Given the description of an element on the screen output the (x, y) to click on. 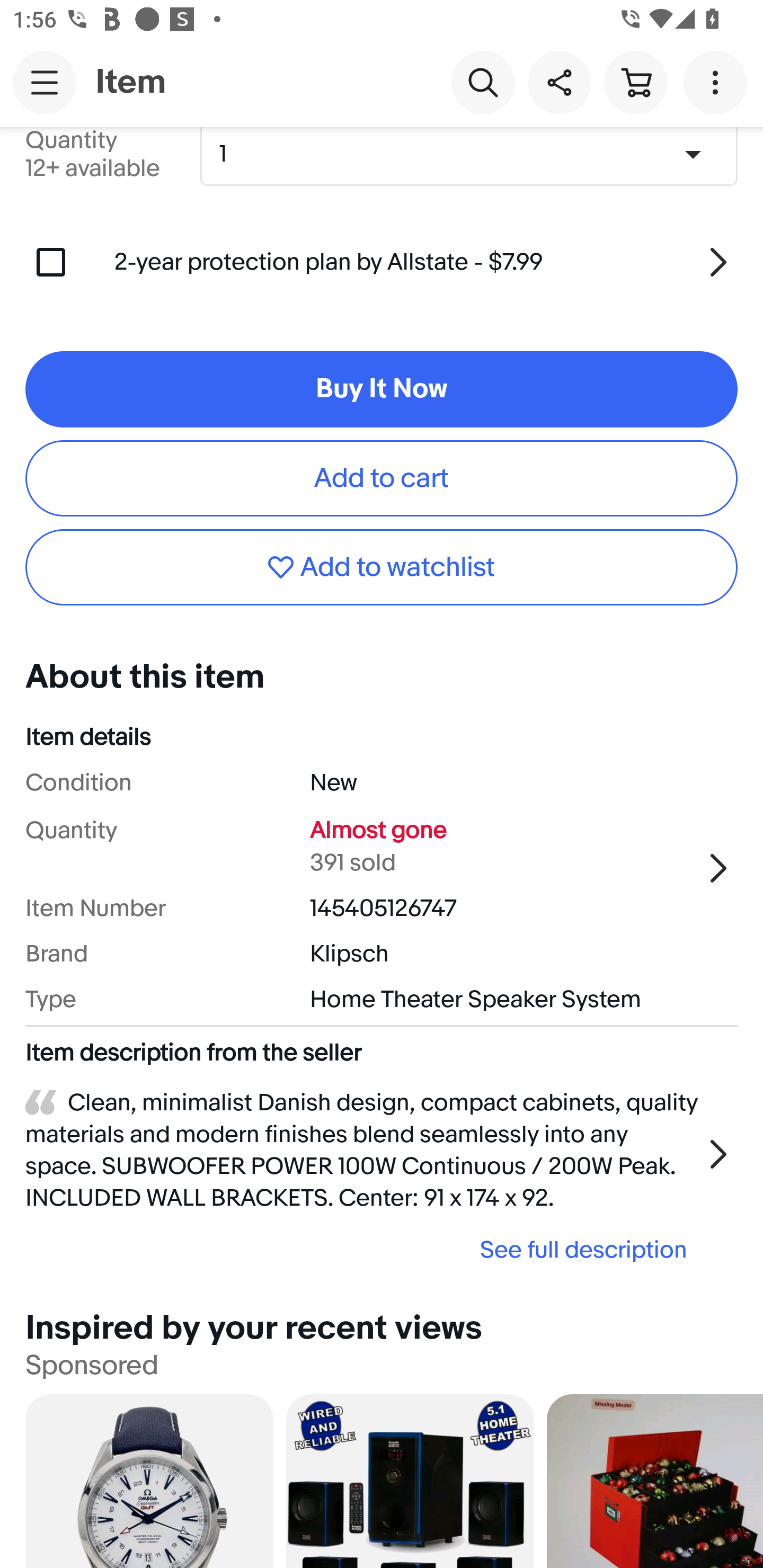
Main navigation, open (44, 82)
Search (482, 81)
Share this item (559, 81)
Cart button shopping cart (635, 81)
More options (718, 81)
Quantity,1,12+ available 1 (474, 153)
2-year protection plan by Allstate - $7.99 (425, 261)
Buy It Now (381, 389)
Add to cart (381, 477)
Add to watchlist (381, 567)
See full description (362, 1248)
